Given the description of an element on the screen output the (x, y) to click on. 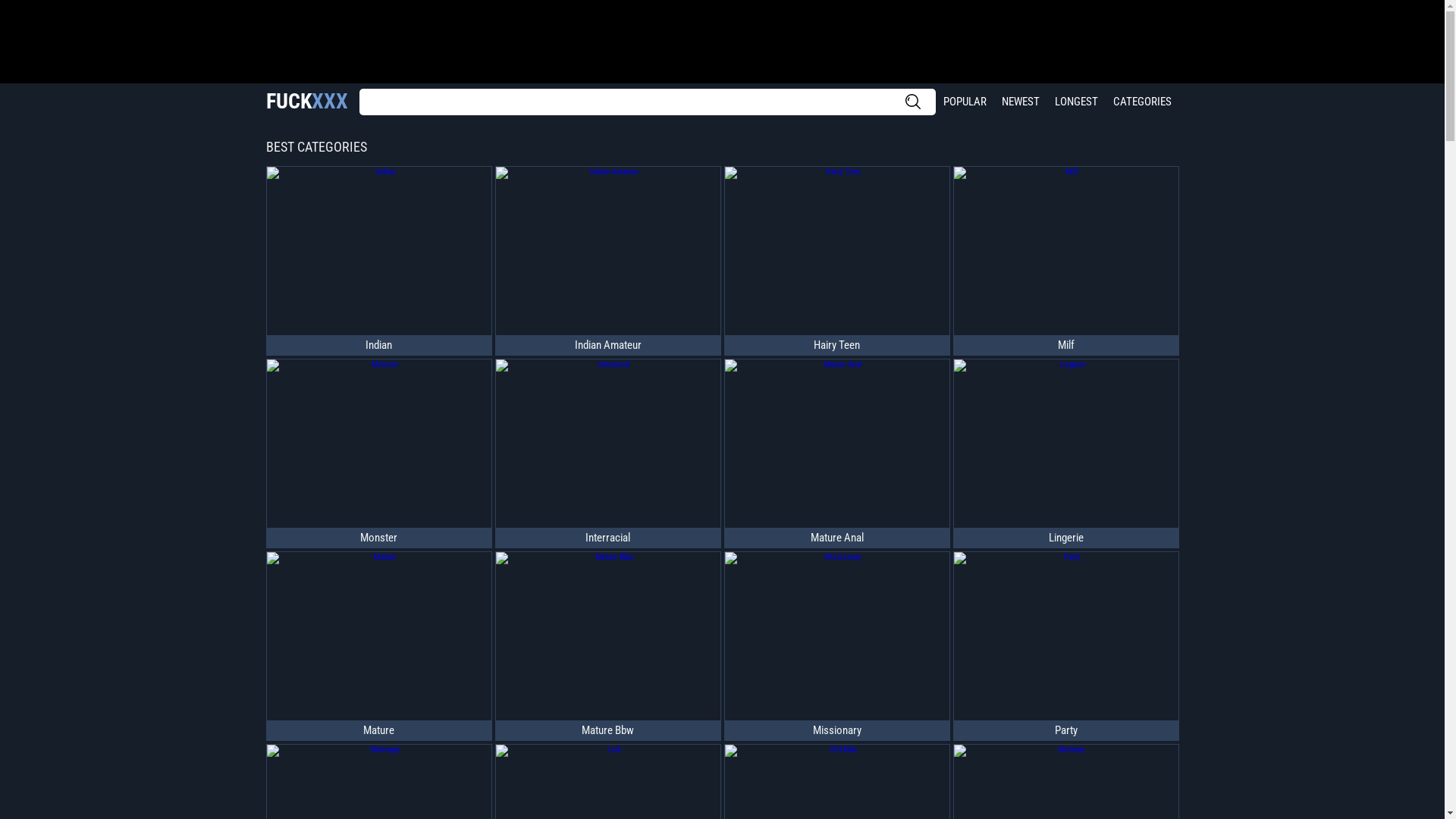
FUCKXXX Element type: text (306, 101)
Mature Element type: text (378, 730)
NEWEST Element type: text (1019, 101)
Hairy Teen Element type: text (836, 344)
Indian Amateur Element type: text (607, 344)
LONGEST Element type: text (1075, 101)
Missionary Element type: text (836, 730)
Mature Anal Element type: text (836, 537)
Party Element type: text (1065, 730)
Lingerie Element type: text (1065, 537)
Indian Element type: text (378, 344)
Search X Videos Element type: hover (647, 100)
Monster Element type: text (378, 537)
Interracial Element type: text (607, 537)
Milf Element type: text (1065, 344)
Mature Bbw Element type: text (607, 730)
POPULAR Element type: text (964, 101)
CATEGORIES Element type: text (1142, 101)
